Given the description of an element on the screen output the (x, y) to click on. 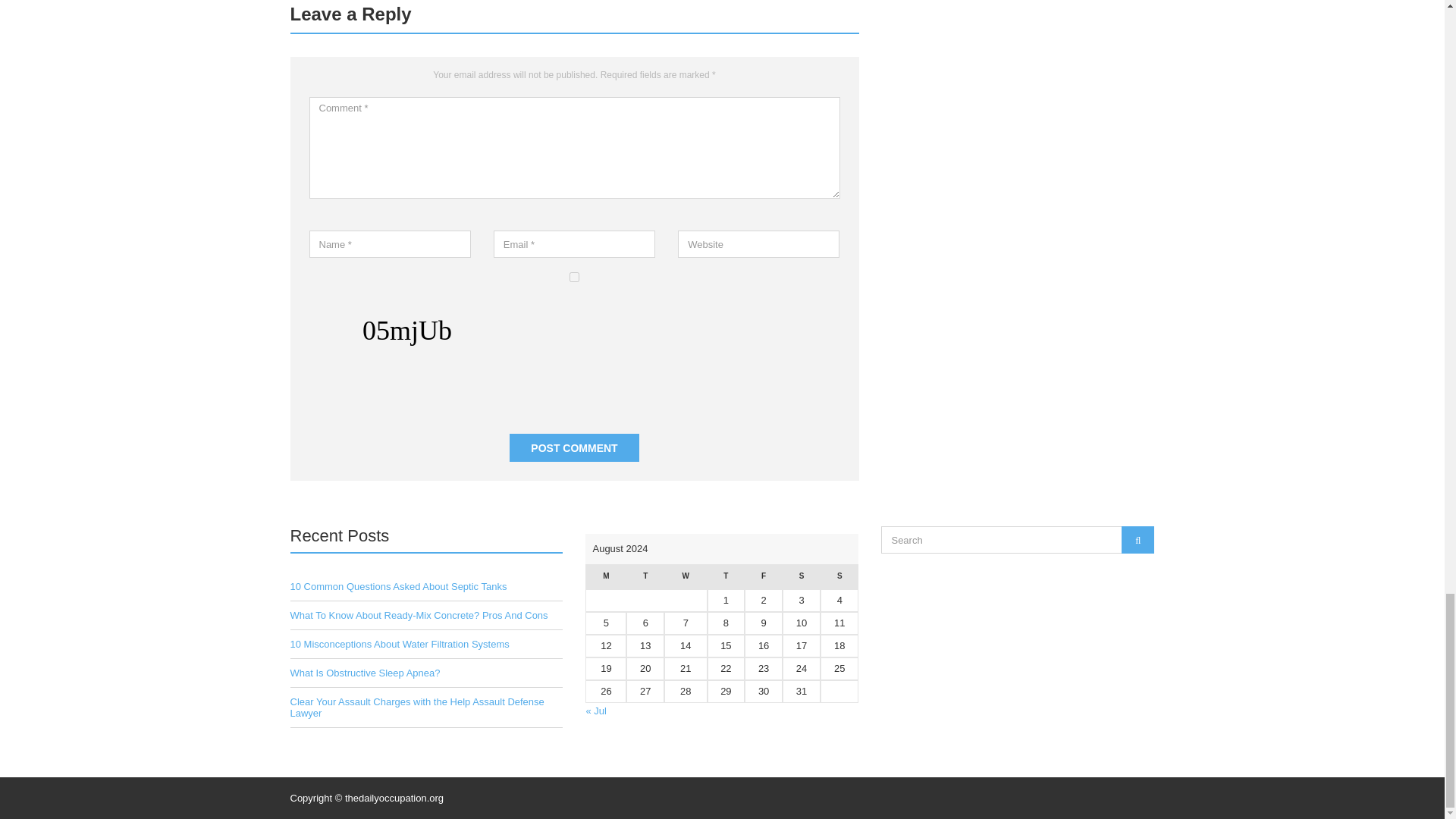
Thursday (725, 576)
Friday (763, 576)
Tuesday (644, 576)
Wednesday (684, 576)
Monday (605, 576)
yes (574, 276)
Post Comment (574, 447)
